Given the description of an element on the screen output the (x, y) to click on. 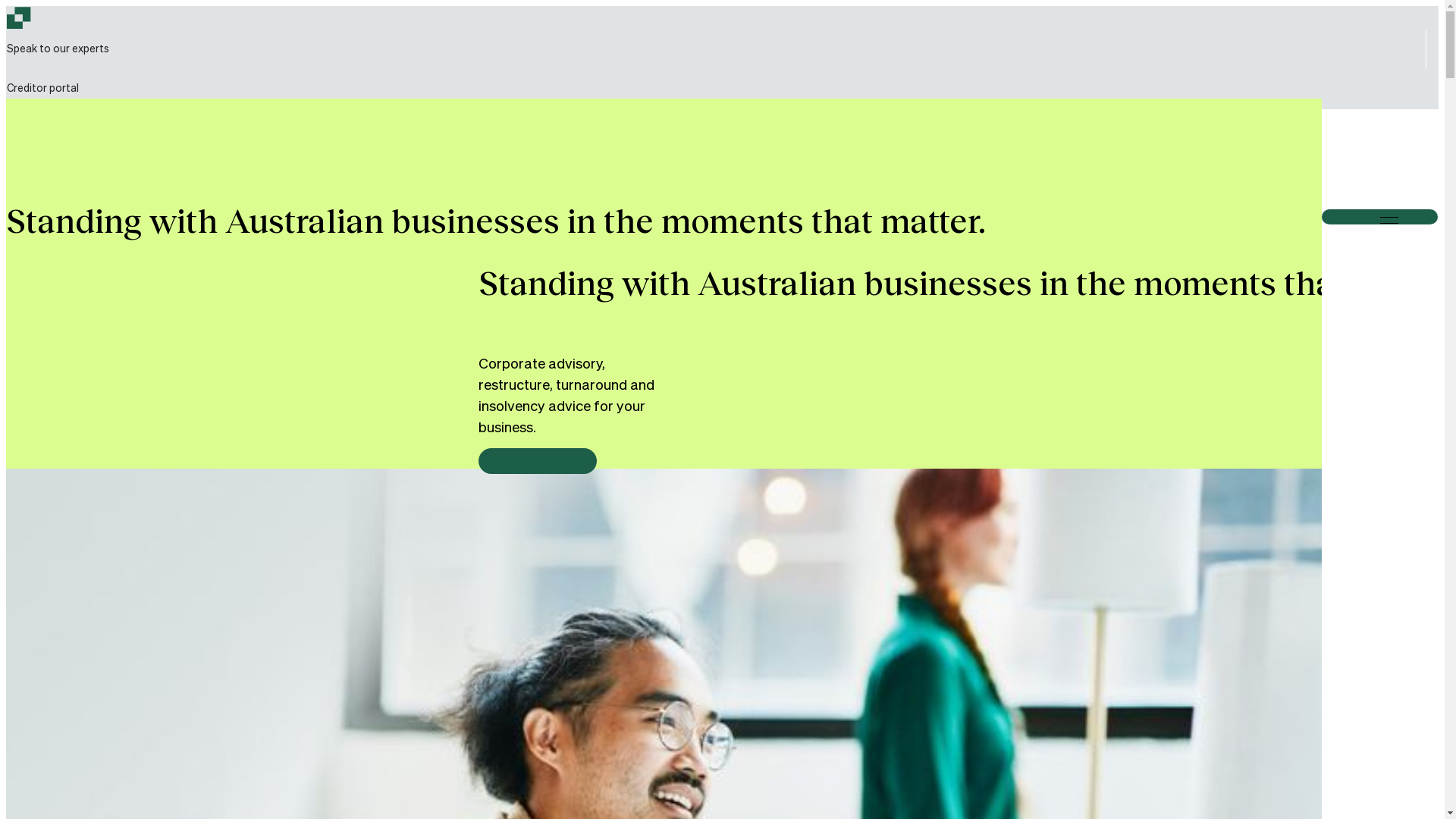
Resources Element type: text (233, 516)
Services Element type: text (227, 209)
Learn more Element type: text (537, 460)
Creditor portal Element type: text (46, 88)
Speak to our experts Element type: text (57, 48)
